Given the description of an element on the screen output the (x, y) to click on. 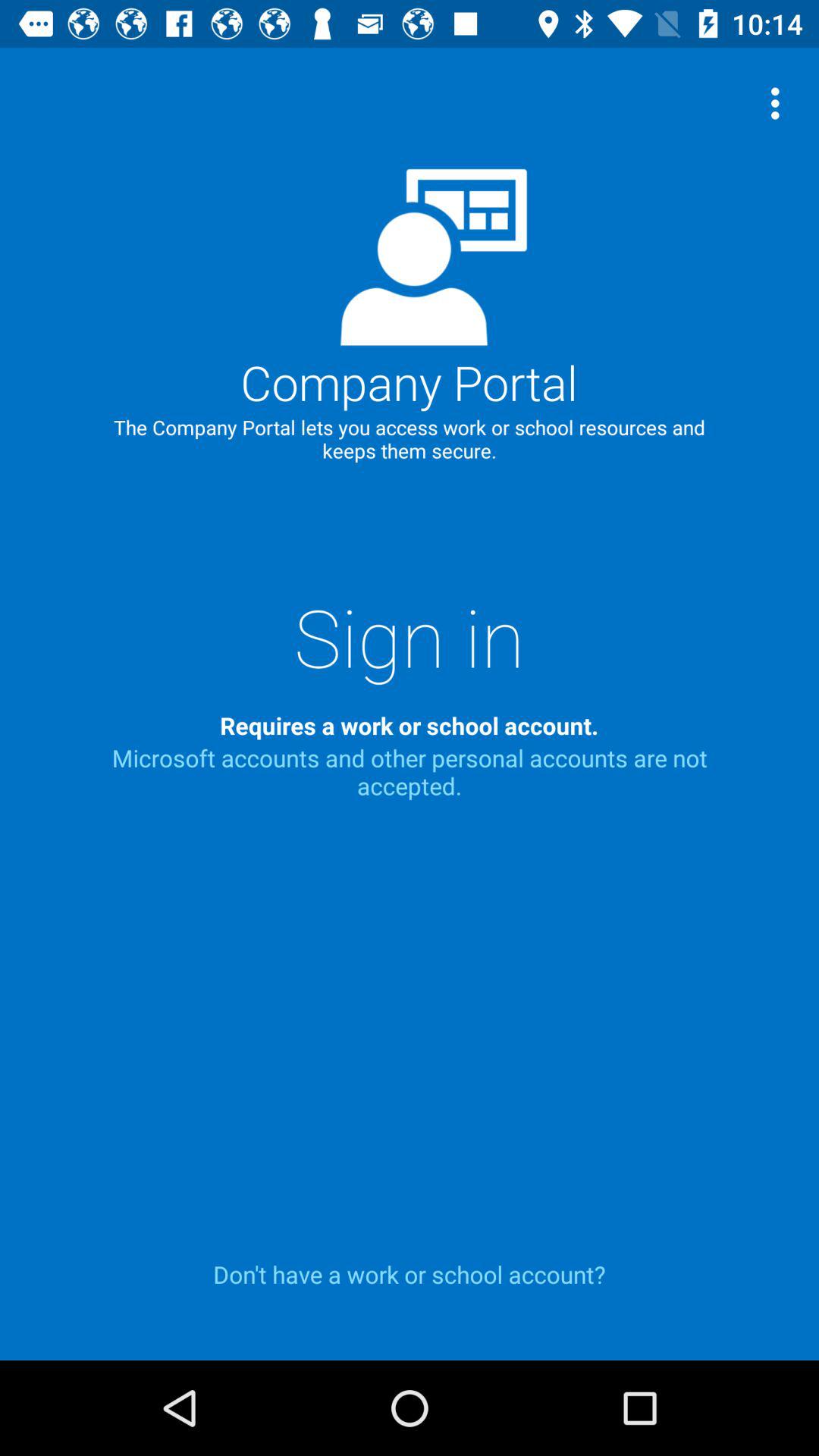
turn off the don t have item (409, 1274)
